Given the description of an element on the screen output the (x, y) to click on. 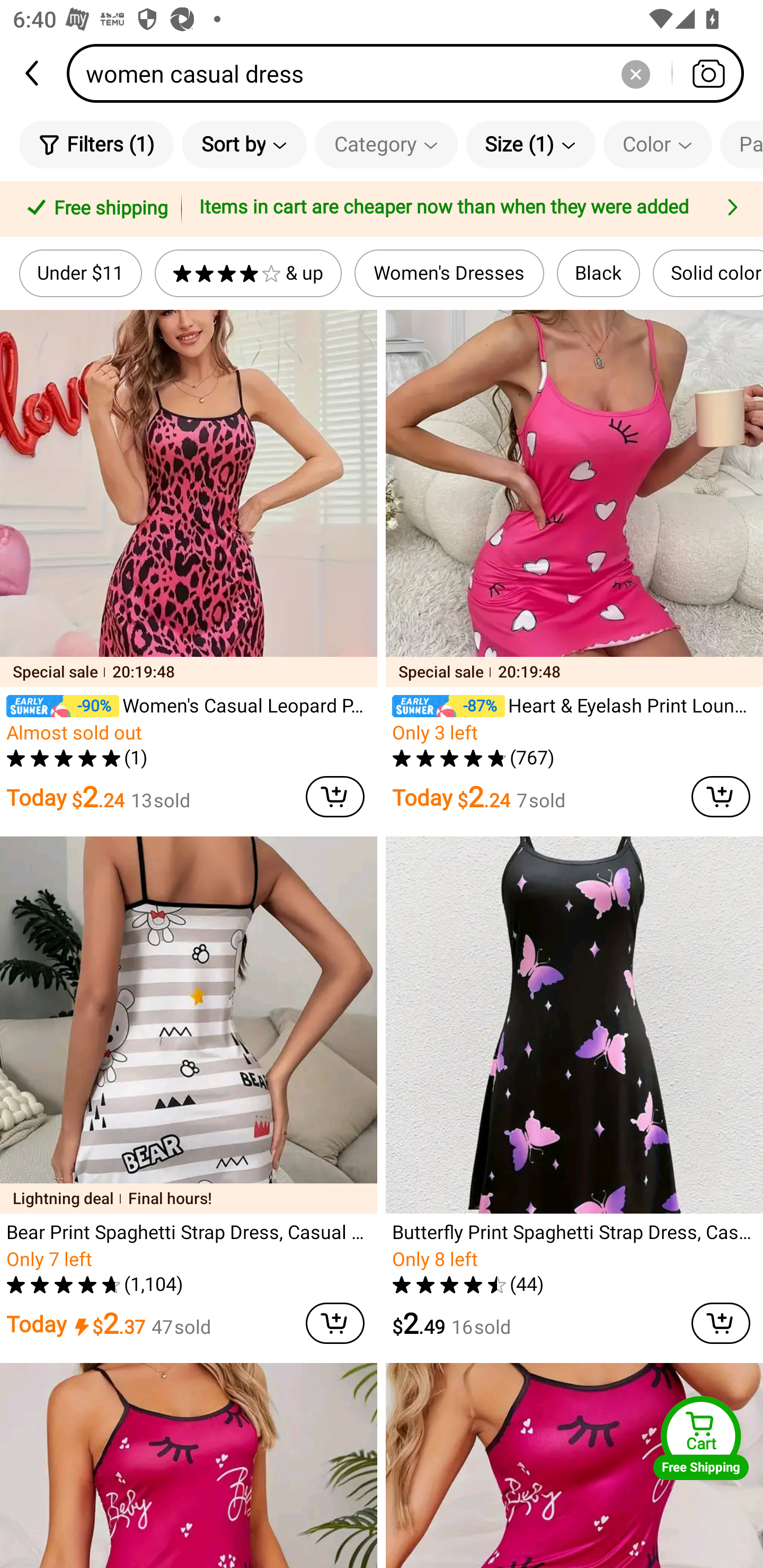
back (33, 72)
women casual dress (411, 73)
Delete search history (635, 73)
Search by photo (708, 73)
Filters (1) (96, 143)
Sort by (243, 143)
Category (385, 143)
Size (1) (530, 143)
Color (657, 143)
 Free shipping (93, 208)
Under $11 (80, 273)
& up (247, 273)
Women's Dresses (449, 273)
Black (598, 273)
Solid color (708, 273)
cart delete (334, 796)
cart delete (720, 796)
cart delete (334, 1323)
cart delete (720, 1323)
Cart Free Shipping Cart (701, 1437)
